Given the description of an element on the screen output the (x, y) to click on. 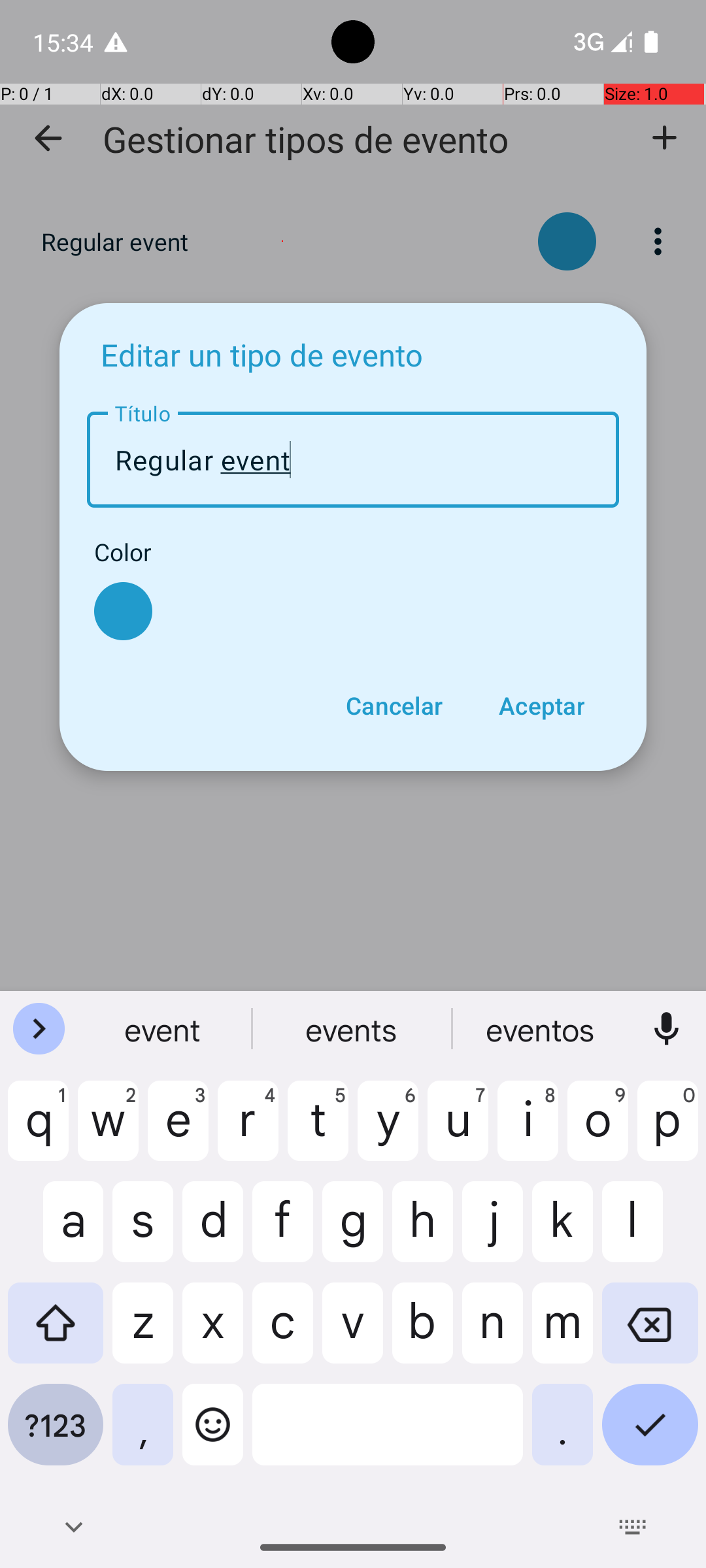
Editar un tipo de evento Element type: android.widget.TextView (261, 354)
Regular event Element type: android.widget.EditText (352, 459)
Cancelar Element type: android.widget.Button (393, 705)
Aceptar Element type: android.widget.Button (541, 705)
event Element type: android.widget.FrameLayout (163, 1028)
events Element type: android.widget.FrameLayout (352, 1028)
eventos Element type: android.widget.FrameLayout (541, 1028)
